Given the description of an element on the screen output the (x, y) to click on. 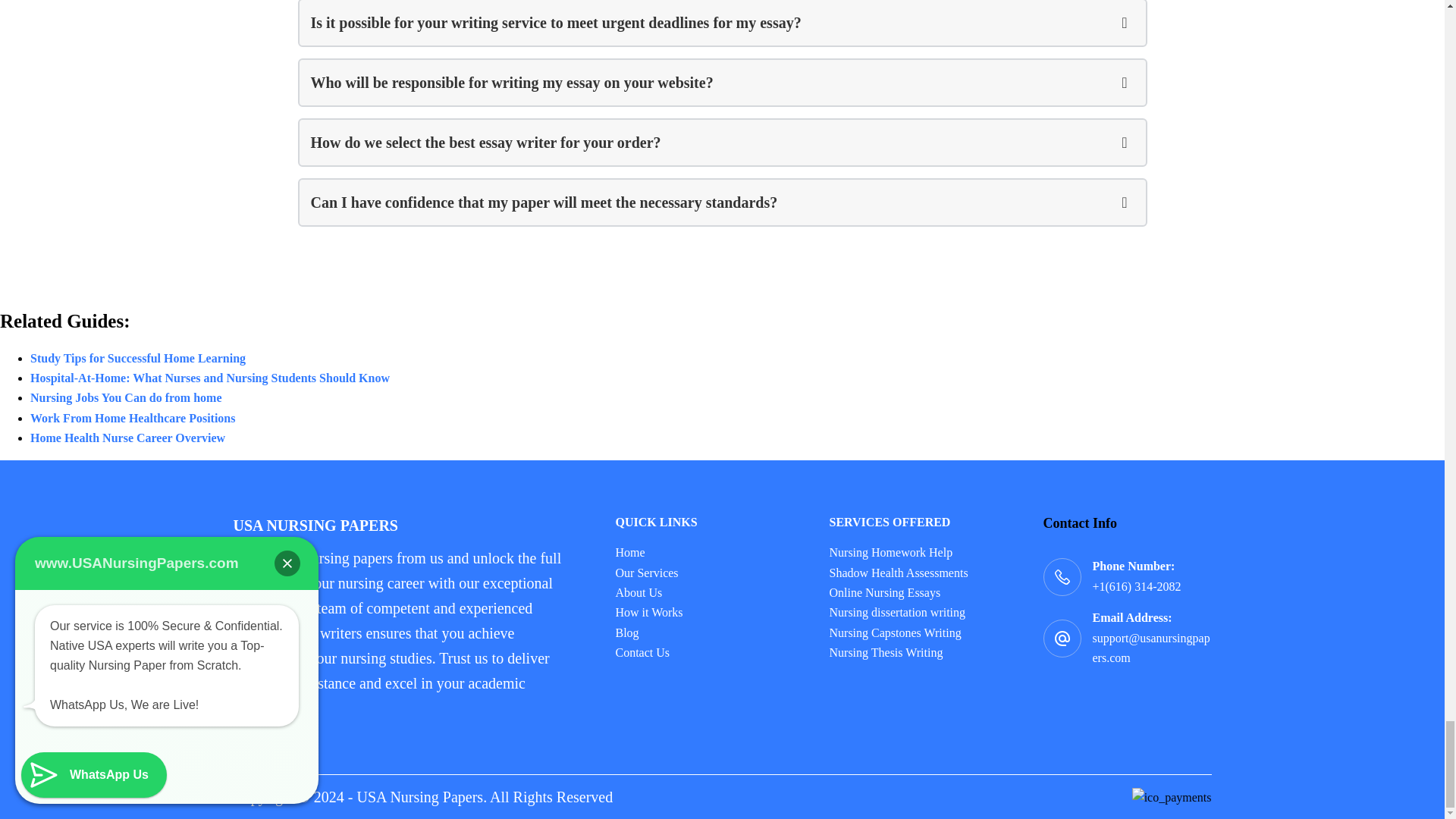
Study Tips for Successful Home Learning (138, 358)
Home Health Nurse Career Overview (127, 437)
Nursing Jobs You Can do from home (125, 397)
Work From Home Healthcare Positions (132, 418)
